Given the description of an element on the screen output the (x, y) to click on. 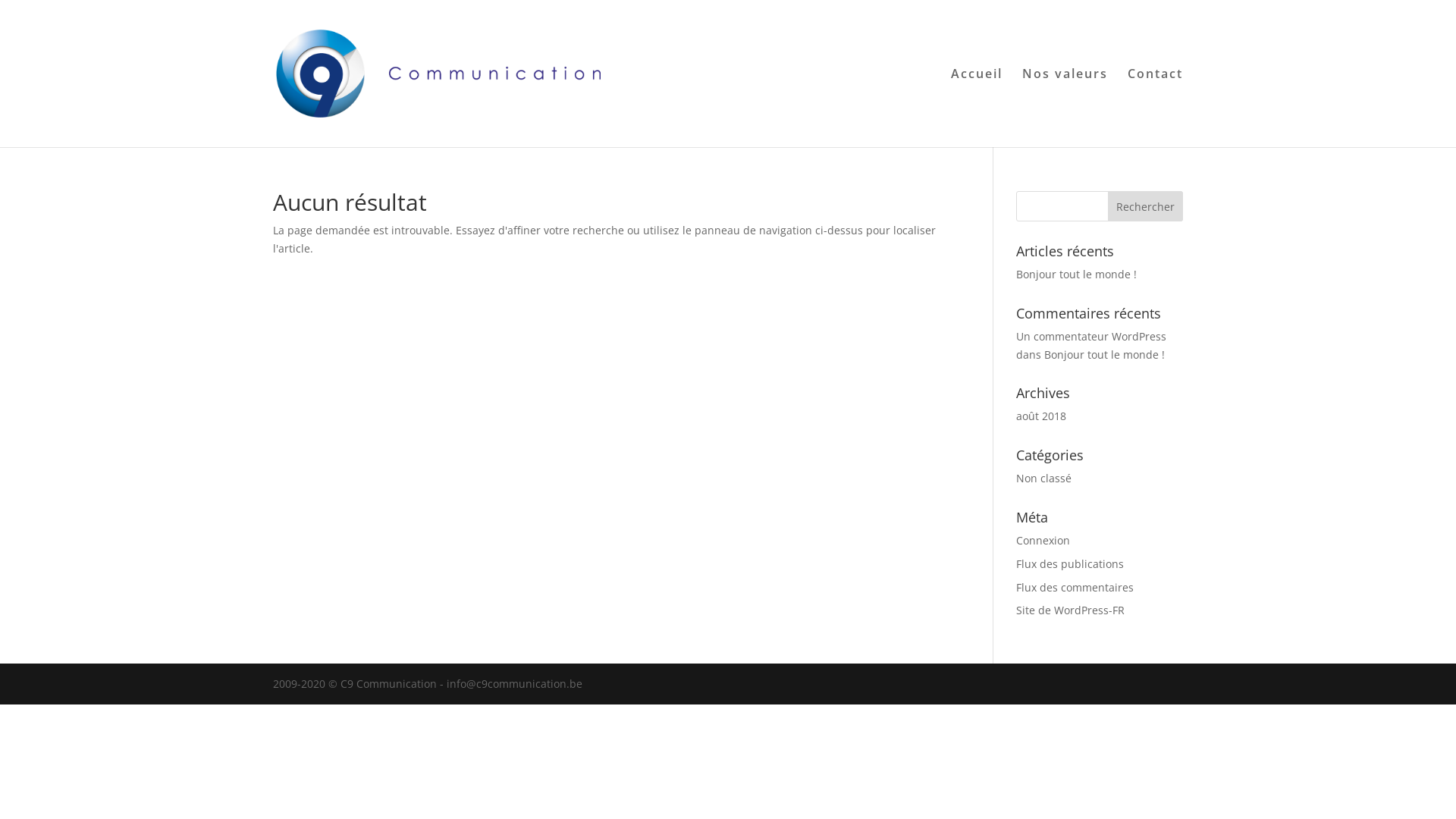
Connexion Element type: text (1043, 540)
Flux des publications Element type: text (1069, 563)
Site de WordPress-FR Element type: text (1070, 609)
Contact Element type: text (1155, 107)
Flux des commentaires Element type: text (1074, 587)
Un commentateur WordPress Element type: text (1091, 336)
Bonjour tout le monde ! Element type: text (1103, 354)
Rechercher Element type: text (1145, 206)
Bonjour tout le monde ! Element type: text (1076, 273)
Accueil Element type: text (976, 107)
Nos valeurs Element type: text (1064, 107)
